Given the description of an element on the screen output the (x, y) to click on. 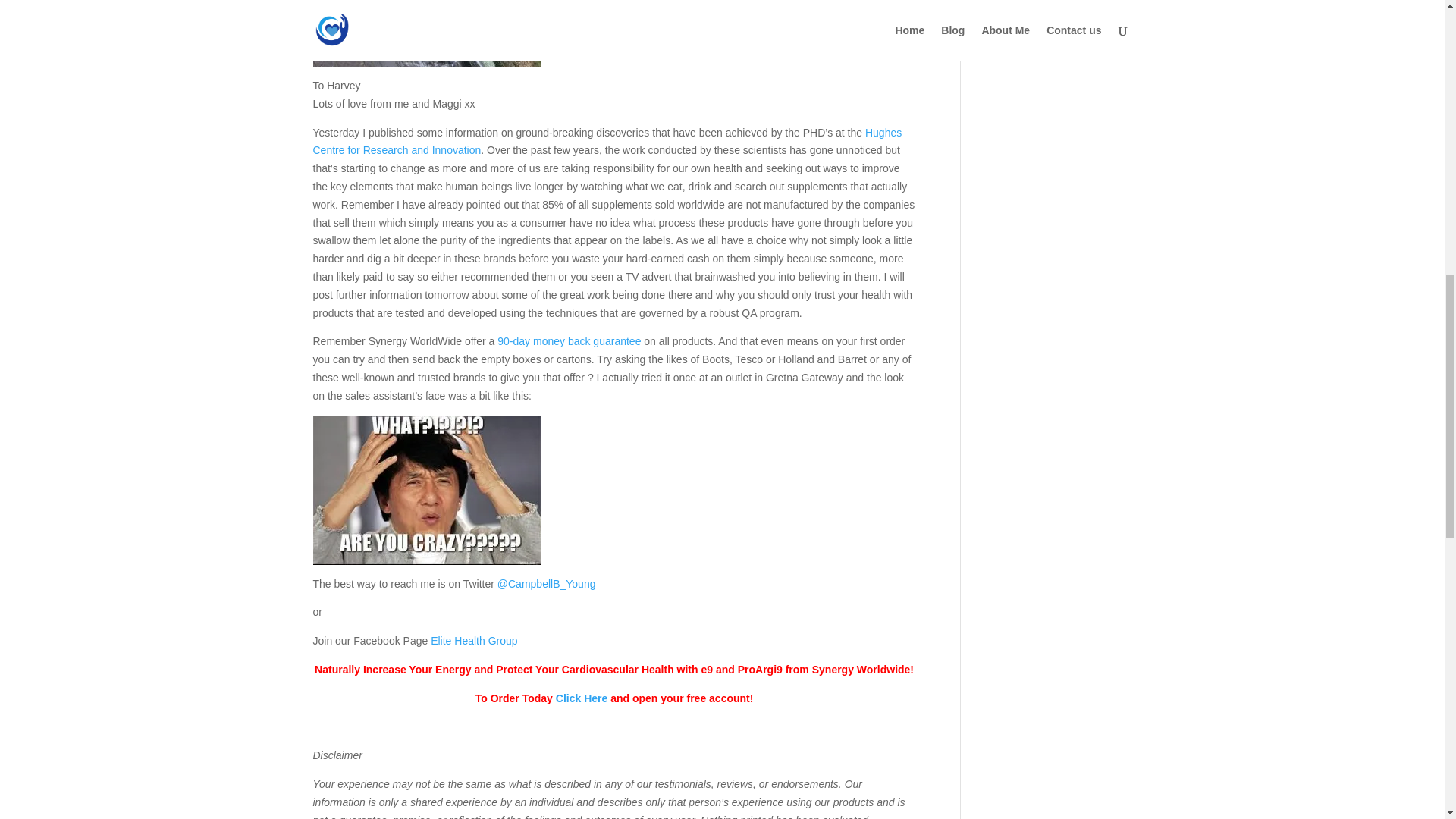
90-day money back guarantee (568, 340)
Hughes Centre for Research and Innovation (607, 141)
Click Here (581, 698)
Elite Health Group (473, 640)
